Given the description of an element on the screen output the (x, y) to click on. 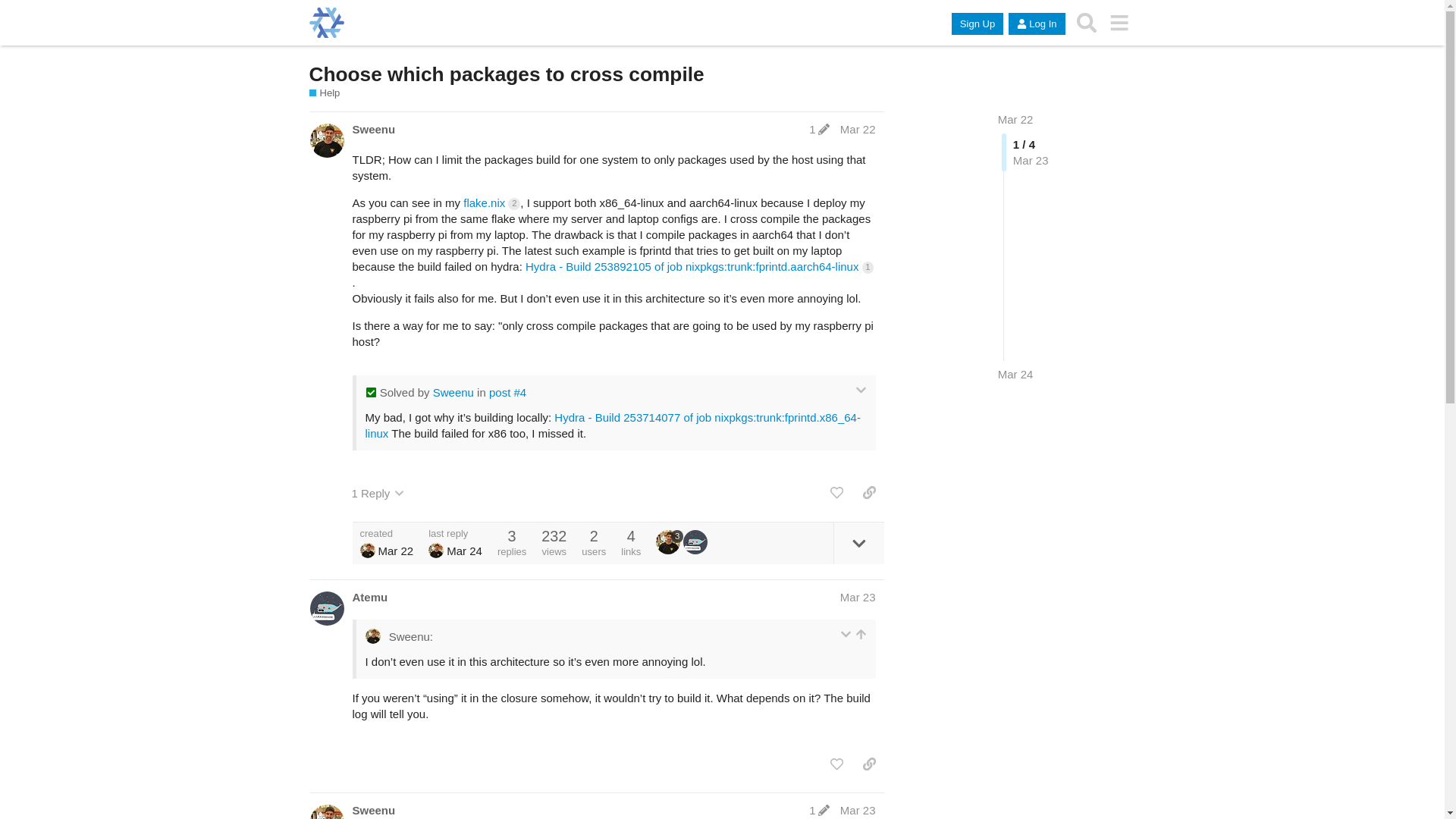
flake.nix 2 (491, 202)
Bruno Inec (436, 549)
Atemu (369, 596)
Sweenu (453, 391)
1 click (868, 267)
share a link to this post (869, 492)
Search (1086, 22)
Mar 22 (1015, 119)
Post date (858, 128)
2 clicks (513, 203)
